Given the description of an element on the screen output the (x, y) to click on. 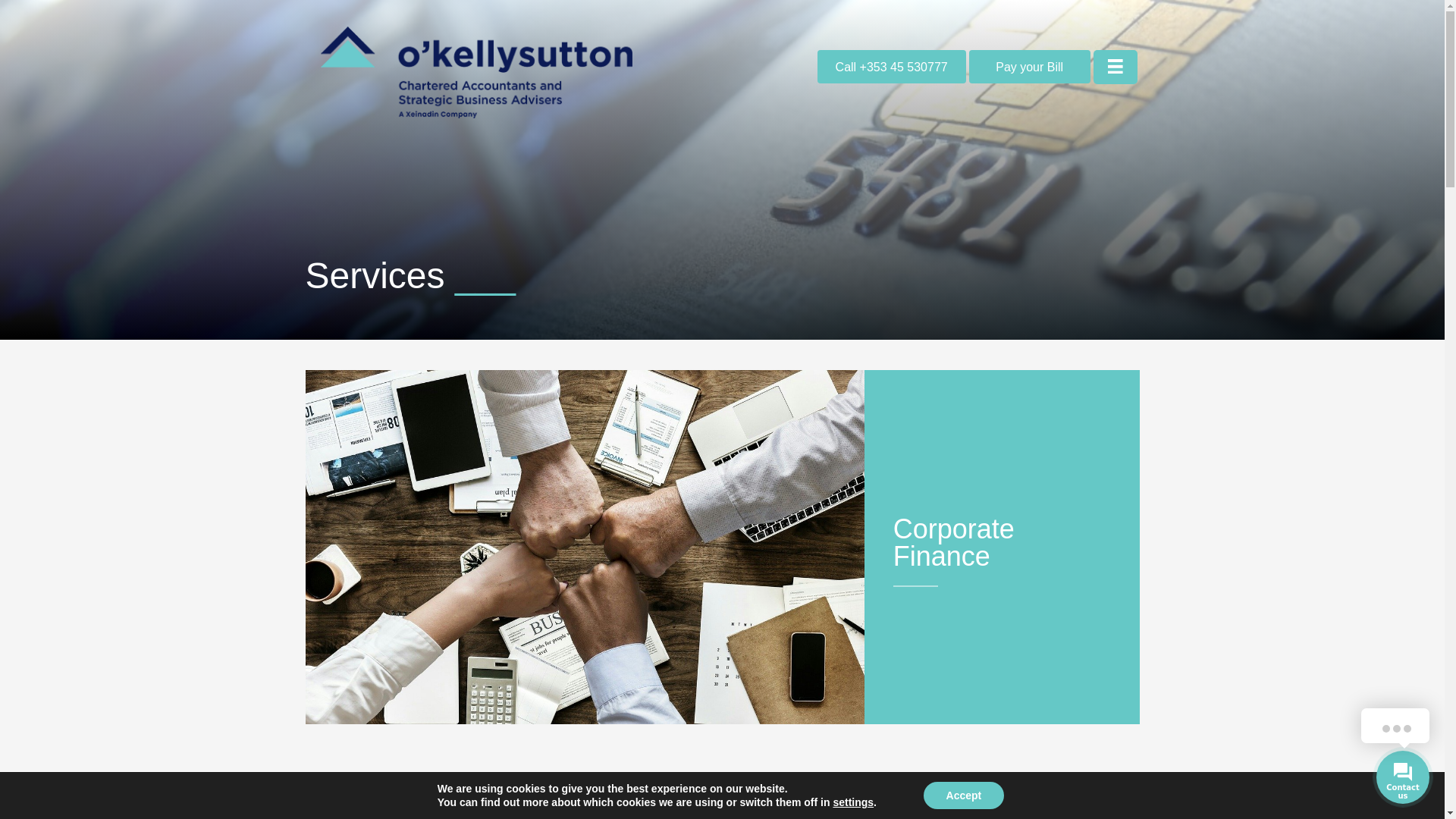
uabb-menu-toggle (1115, 65)
Pay your Bill (1029, 66)
